Given the description of an element on the screen output the (x, y) to click on. 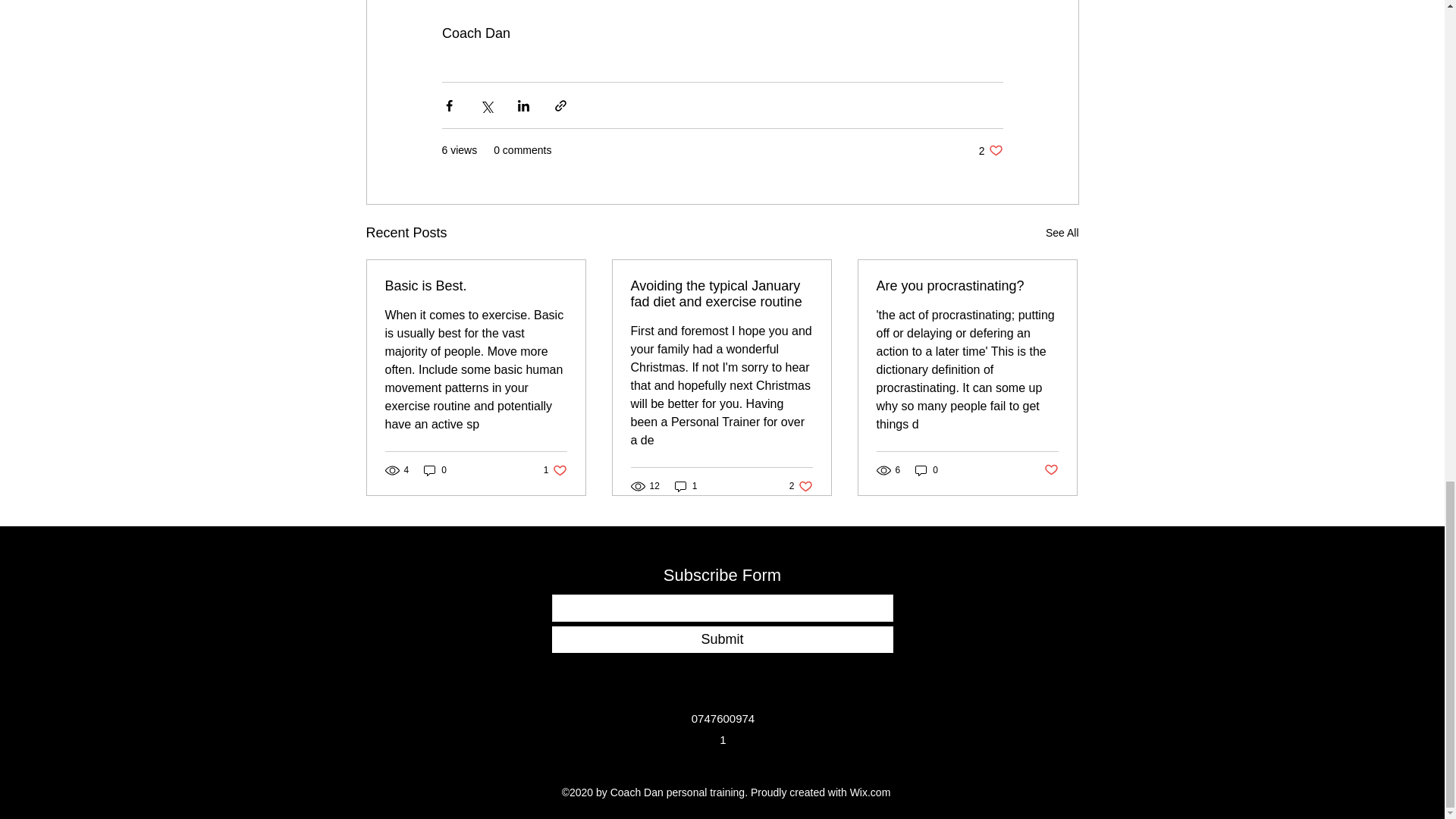
See All (1061, 232)
Submit (722, 639)
0 (926, 470)
0 (990, 150)
Post not marked as liked (435, 470)
Are you procrastinating? (555, 470)
1 (800, 486)
Basic is Best. (1050, 470)
Avoiding the typical January fad diet and exercise routine (967, 286)
